Given the description of an element on the screen output the (x, y) to click on. 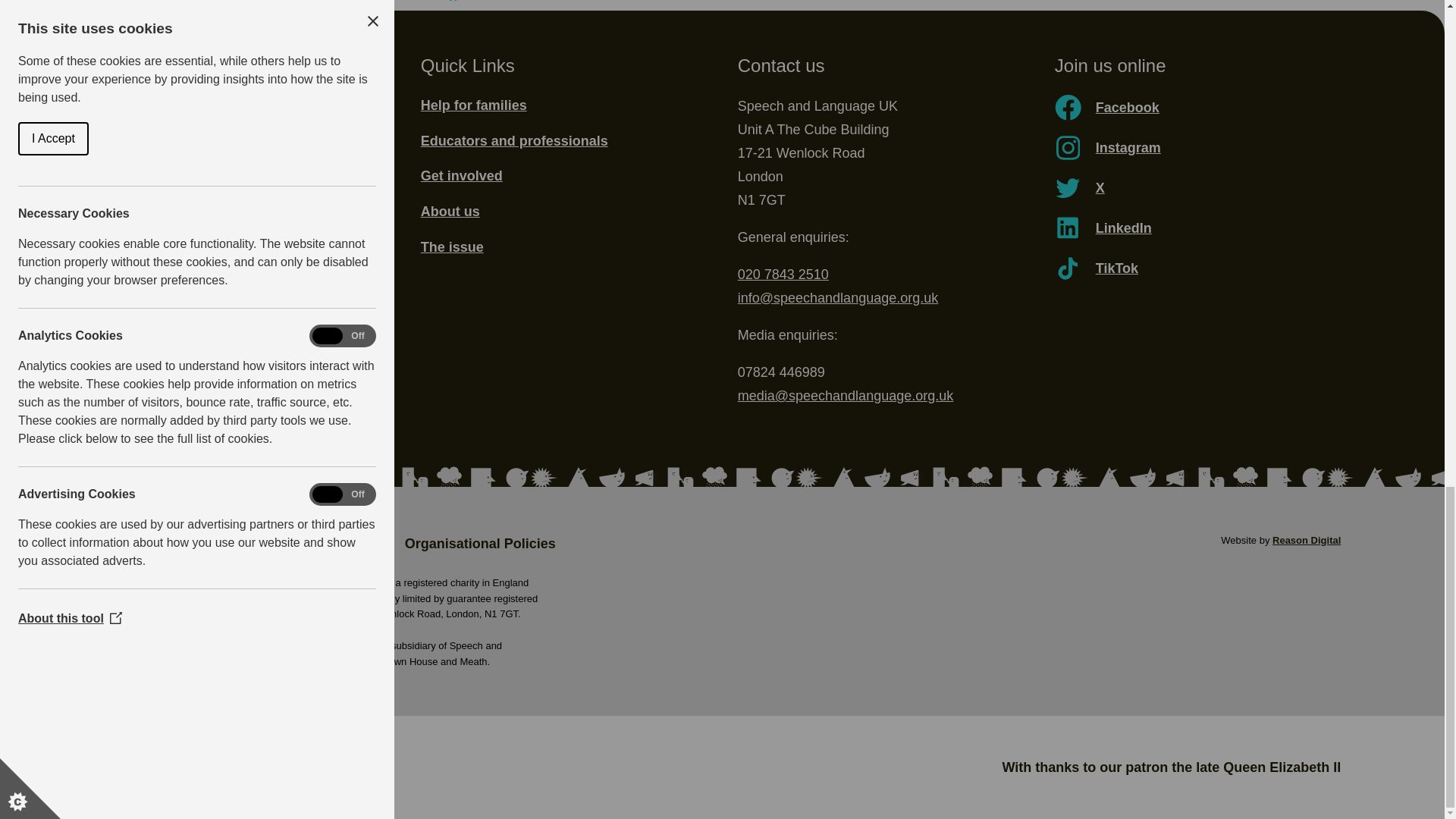
Tweet this page (275, 5)
Share via Email (574, 5)
Share via TikTok (673, 5)
Share on Facebook (473, 5)
Share on LinkedIn (374, 5)
